Given the description of an element on the screen output the (x, y) to click on. 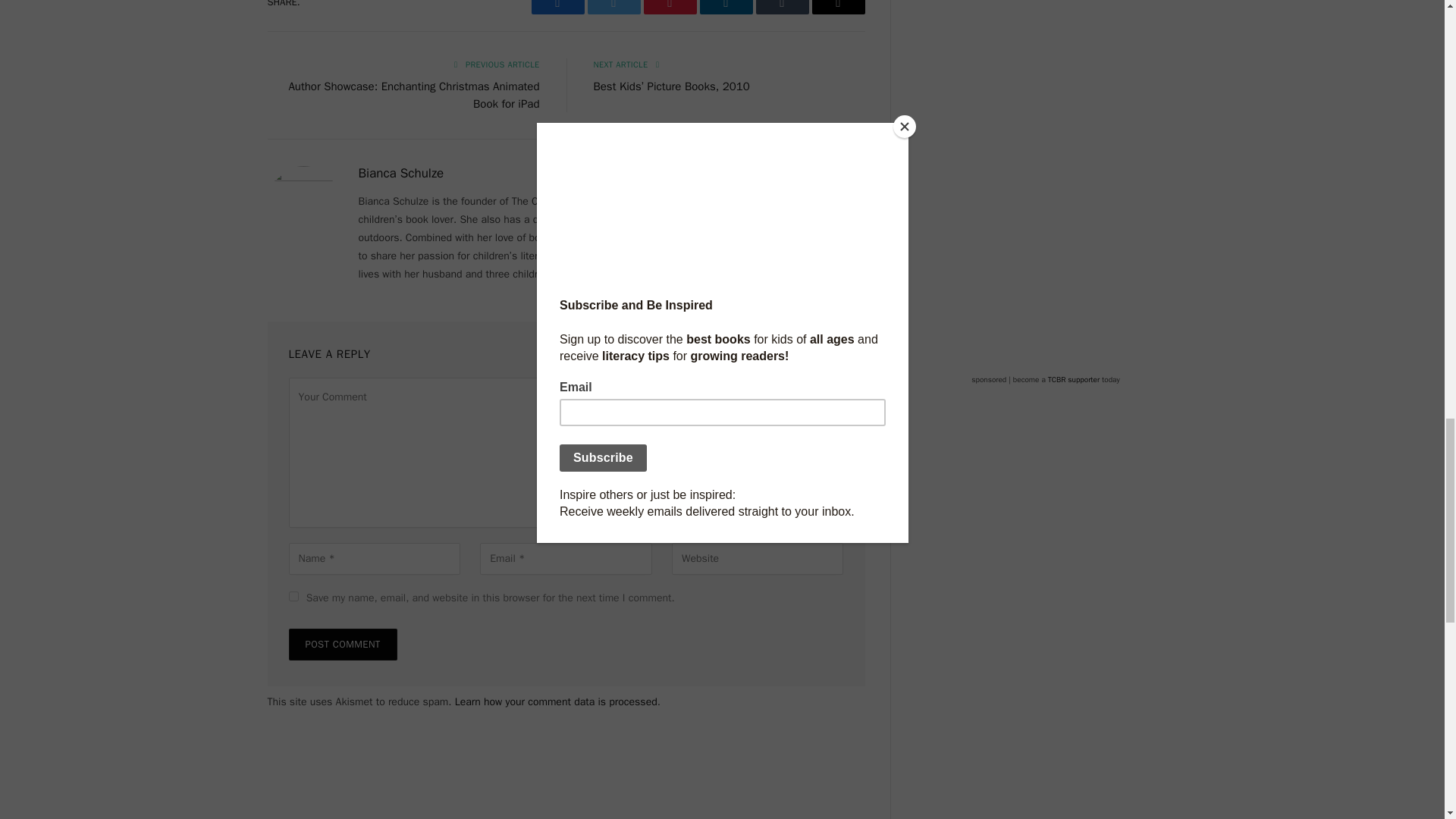
Post Comment (342, 644)
yes (293, 596)
